Given the description of an element on the screen output the (x, y) to click on. 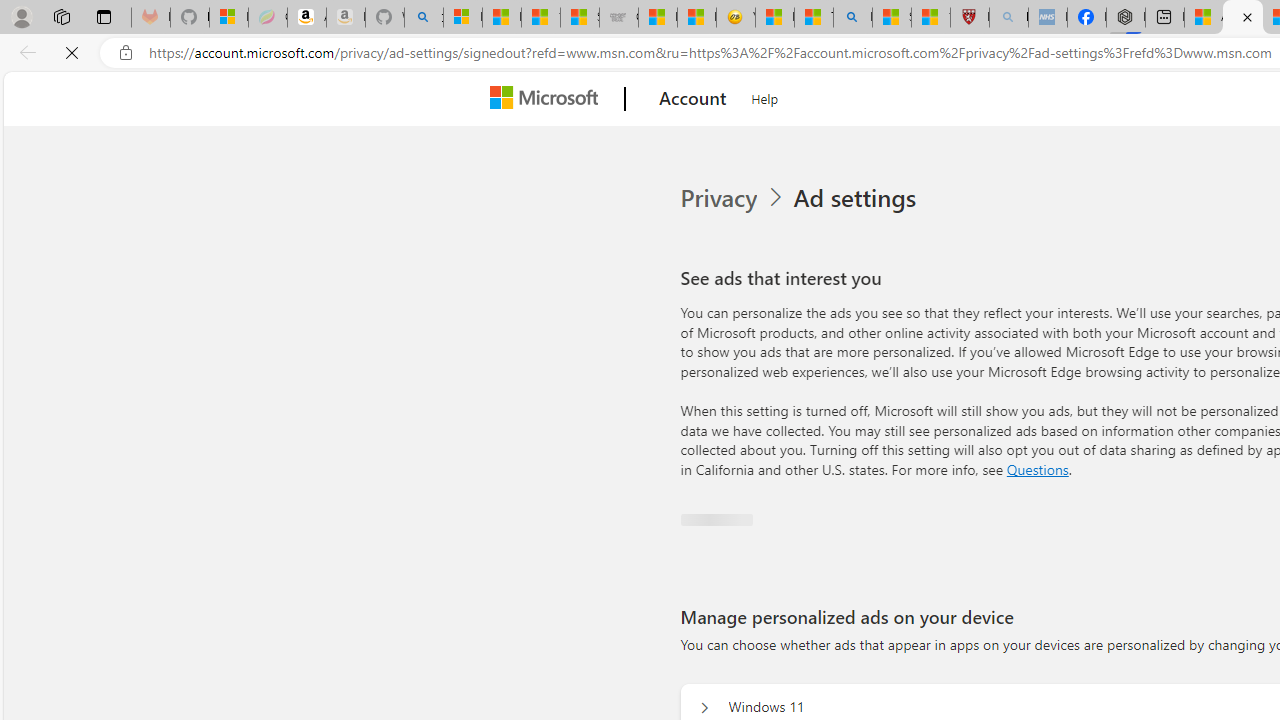
Recipes - MSN (774, 17)
Go to Questions section (1037, 468)
